Given the description of an element on the screen output the (x, y) to click on. 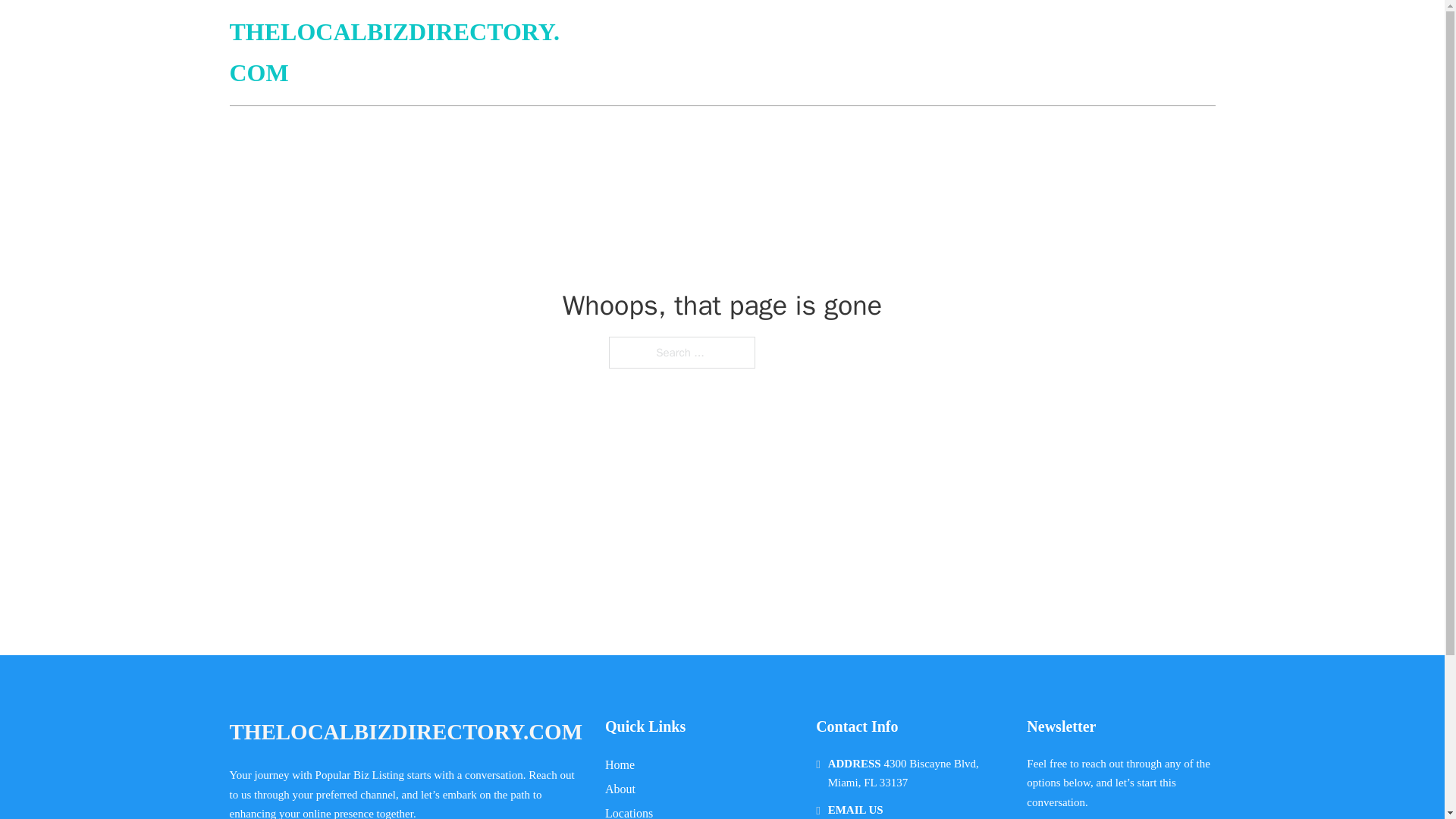
THELOCALBIZDIRECTORY.COM (405, 732)
About (619, 788)
HOME (1032, 53)
Home (619, 764)
LOCATIONS (1105, 53)
THELOCALBIZDIRECTORY.COM (400, 52)
Locations (628, 811)
